Given the description of an element on the screen output the (x, y) to click on. 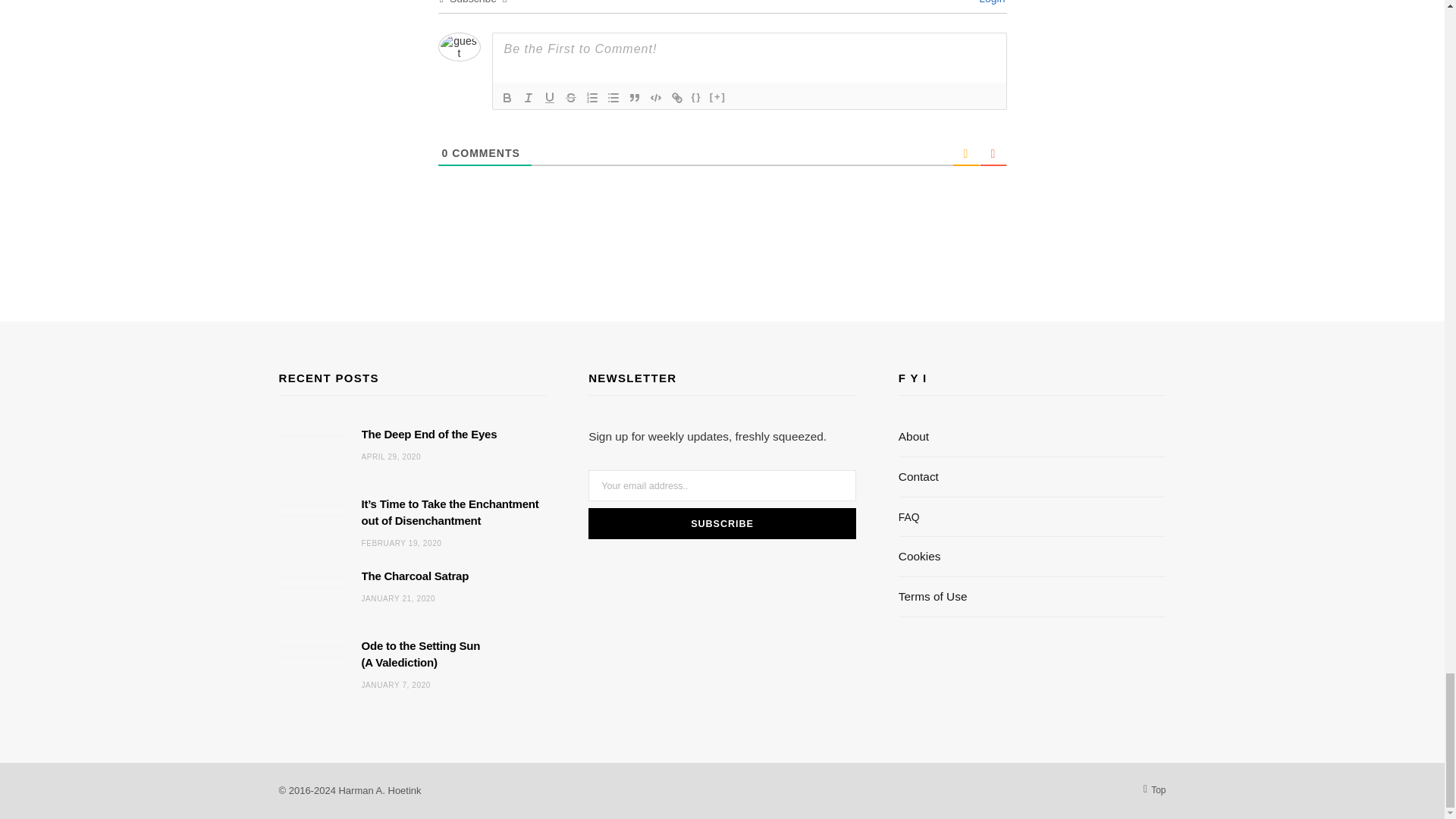
Subscribe (722, 522)
